Given the description of an element on the screen output the (x, y) to click on. 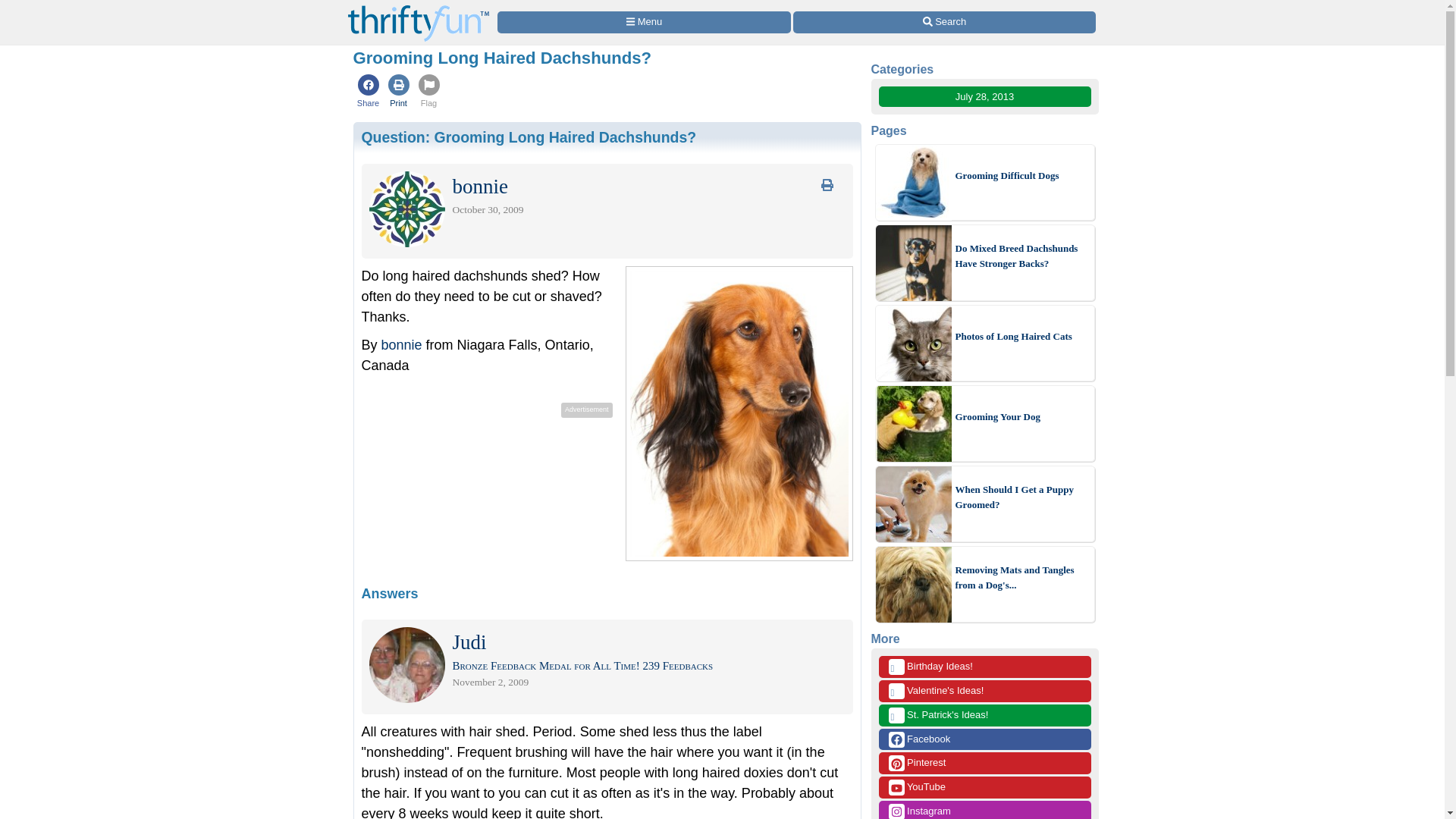
Judi (468, 645)
Question: Grooming Long Haired Dachshunds? (528, 136)
bonnie (401, 344)
bonnie (479, 189)
